Given the description of an element on the screen output the (x, y) to click on. 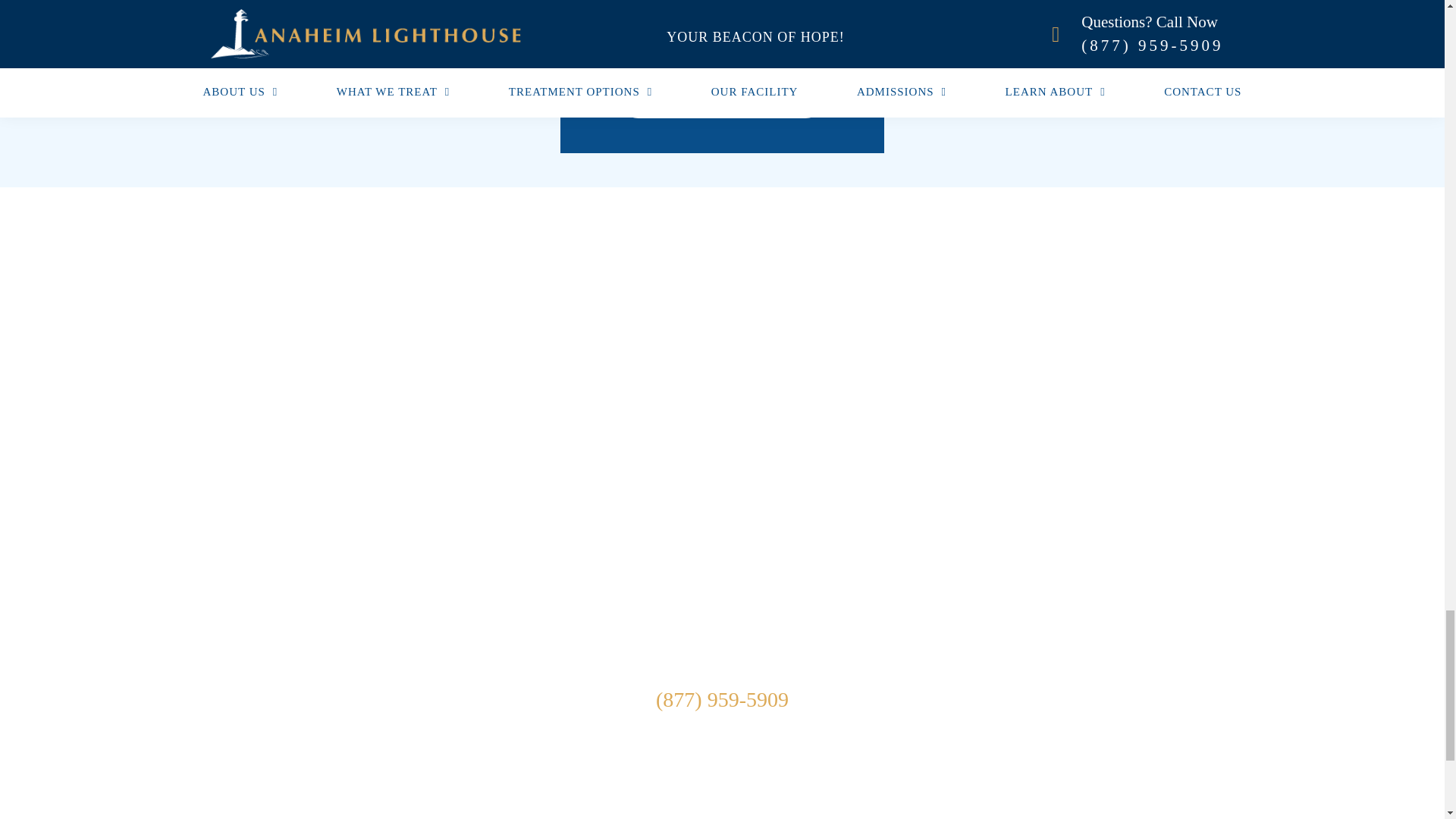
Get My CALL BACK (721, 81)
I Agree Not To Spam (596, 16)
